Given the description of an element on the screen output the (x, y) to click on. 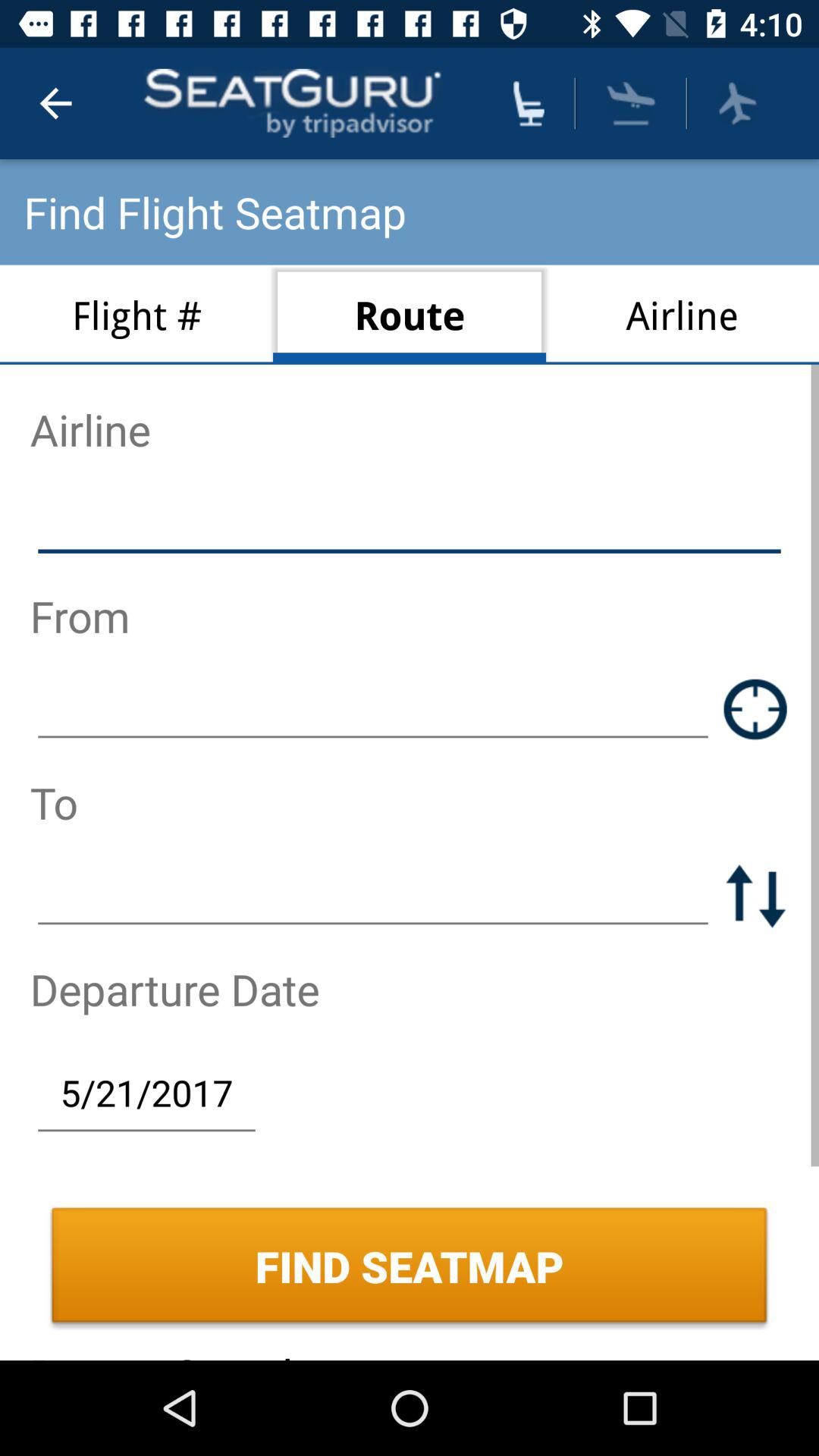
turn off the item to the right of the flight # item (409, 314)
